Given the description of an element on the screen output the (x, y) to click on. 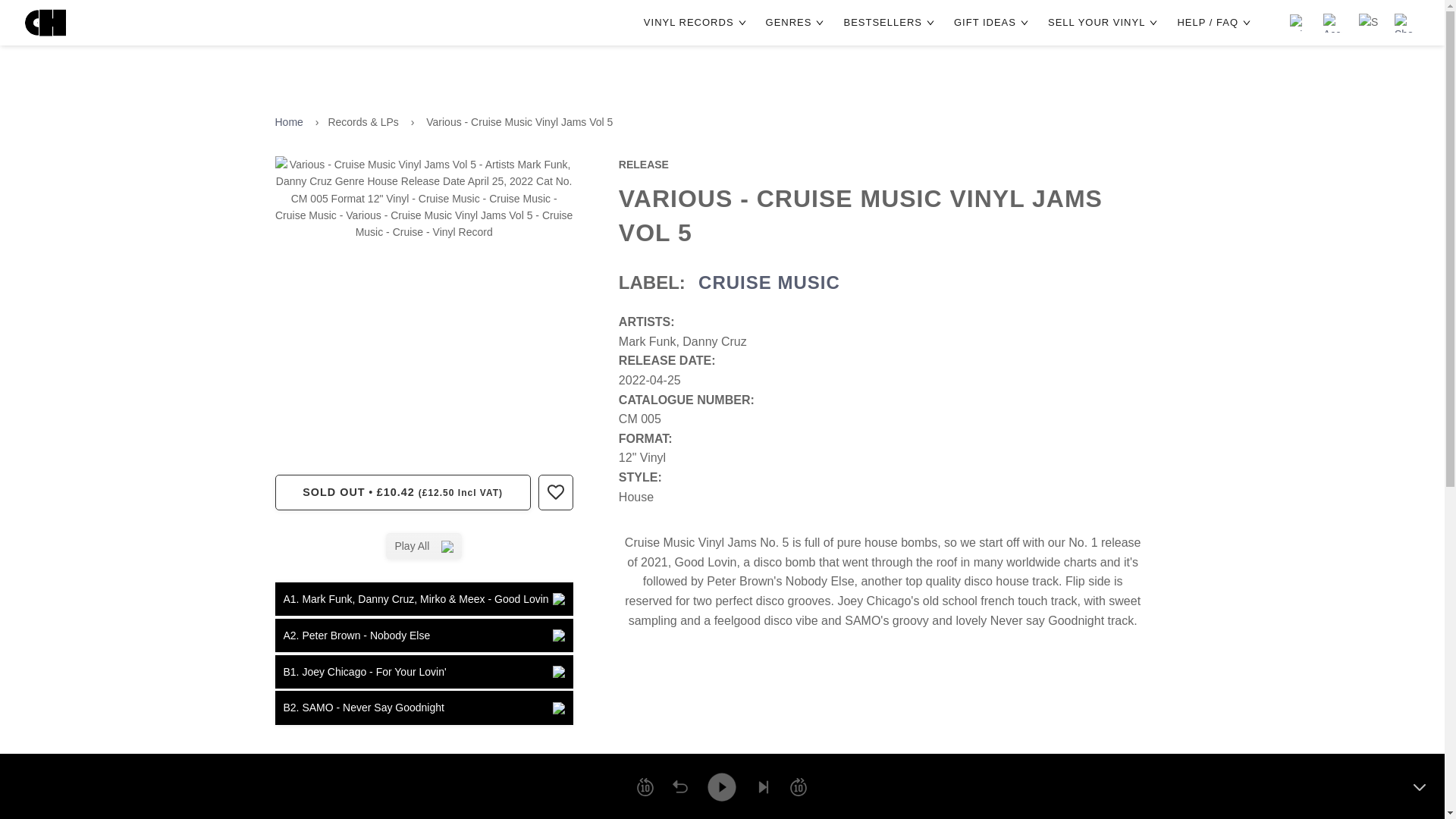
Go to wishlist page (1298, 22)
Go to shopping cart page (1404, 22)
Go to account page (1332, 22)
VINYL RECORDS (697, 22)
Open search bar (1367, 22)
Next track (762, 786)
Play (721, 786)
GENRES (796, 22)
Add to wishlist (555, 492)
BESTSELLERS (891, 22)
